Given the description of an element on the screen output the (x, y) to click on. 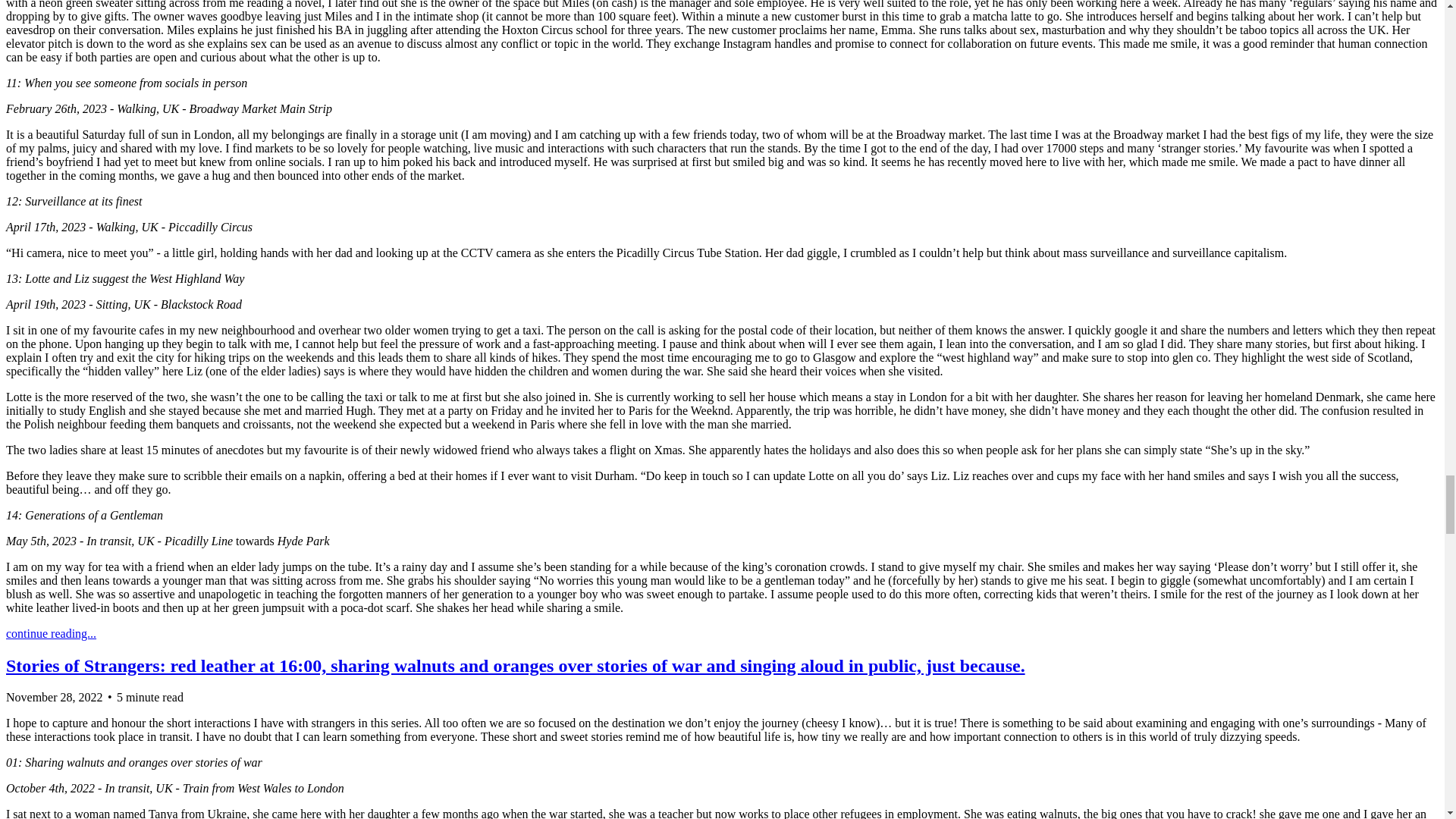
continue reading... (50, 633)
